Given the description of an element on the screen output the (x, y) to click on. 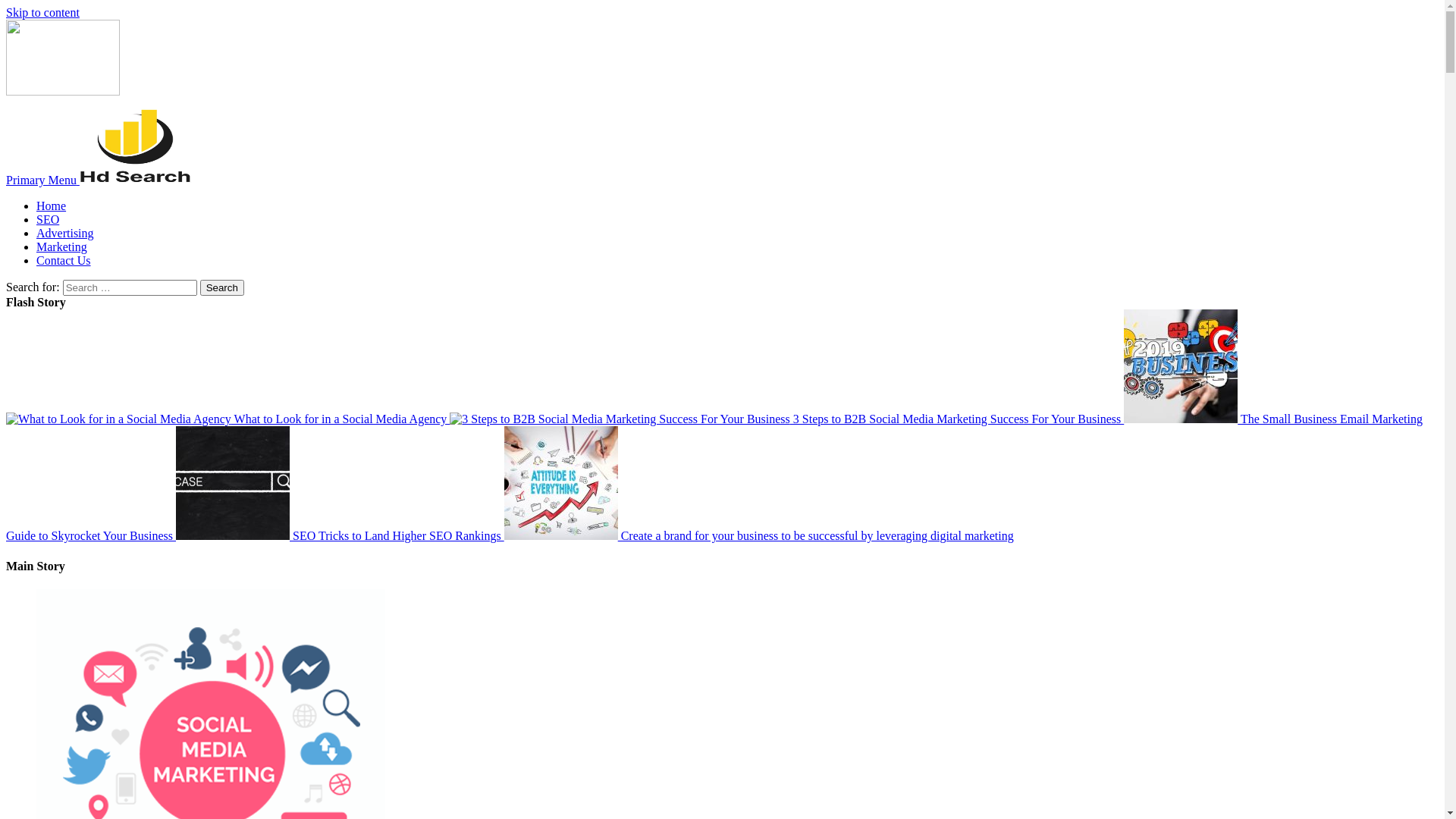
Home Element type: text (50, 205)
Skip to content Element type: text (42, 12)
Advertising Element type: text (65, 232)
Marketing Element type: text (61, 246)
Primary Menu Element type: text (42, 179)
SEO Tricks to Land Higher SEO Rankings Element type: text (339, 535)
SEO Element type: text (47, 219)
What to Look for in a Social Media Agency Element type: text (227, 418)
Contact Us Element type: text (63, 260)
Search Element type: text (222, 287)
